Given the description of an element on the screen output the (x, y) to click on. 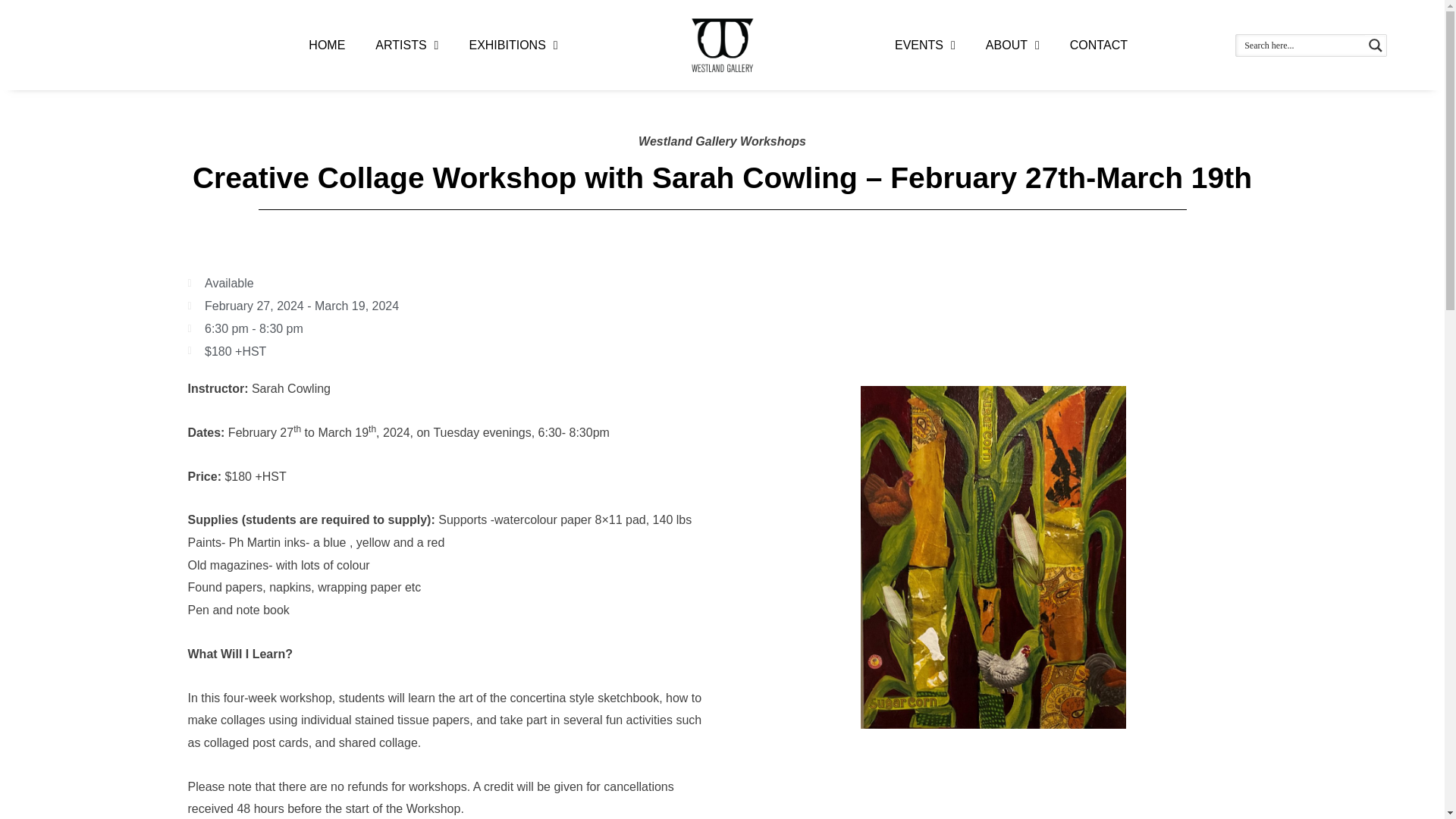
HOME (326, 45)
ARTISTS (405, 45)
